Given the description of an element on the screen output the (x, y) to click on. 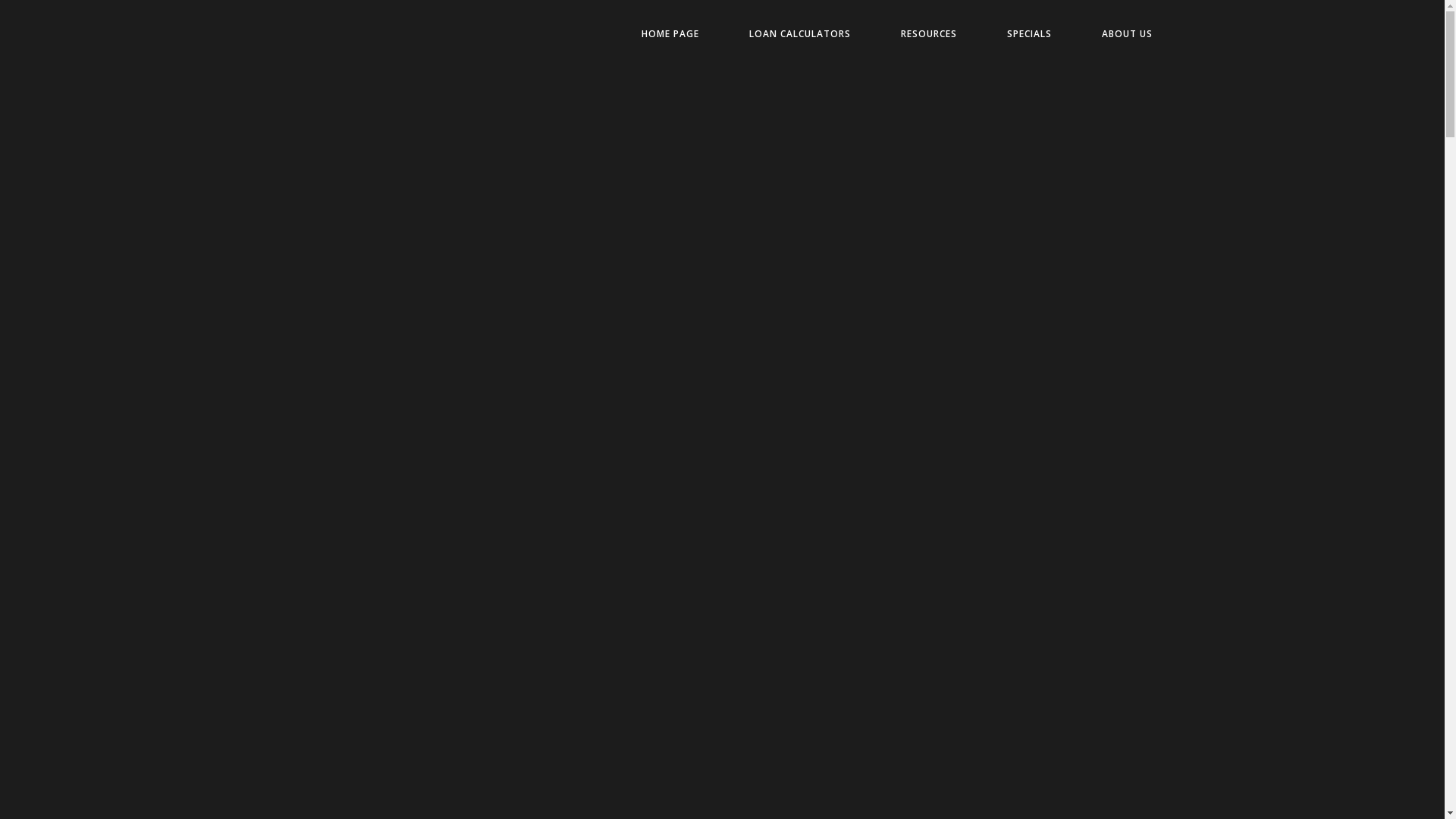
SPECIALS Element type: text (1028, 34)
LOAN CALCULATORS Element type: text (799, 34)
RESOURCES Element type: text (928, 34)
HOME PAGE Element type: text (669, 34)
ABOUT US Element type: text (1126, 34)
